Given the description of an element on the screen output the (x, y) to click on. 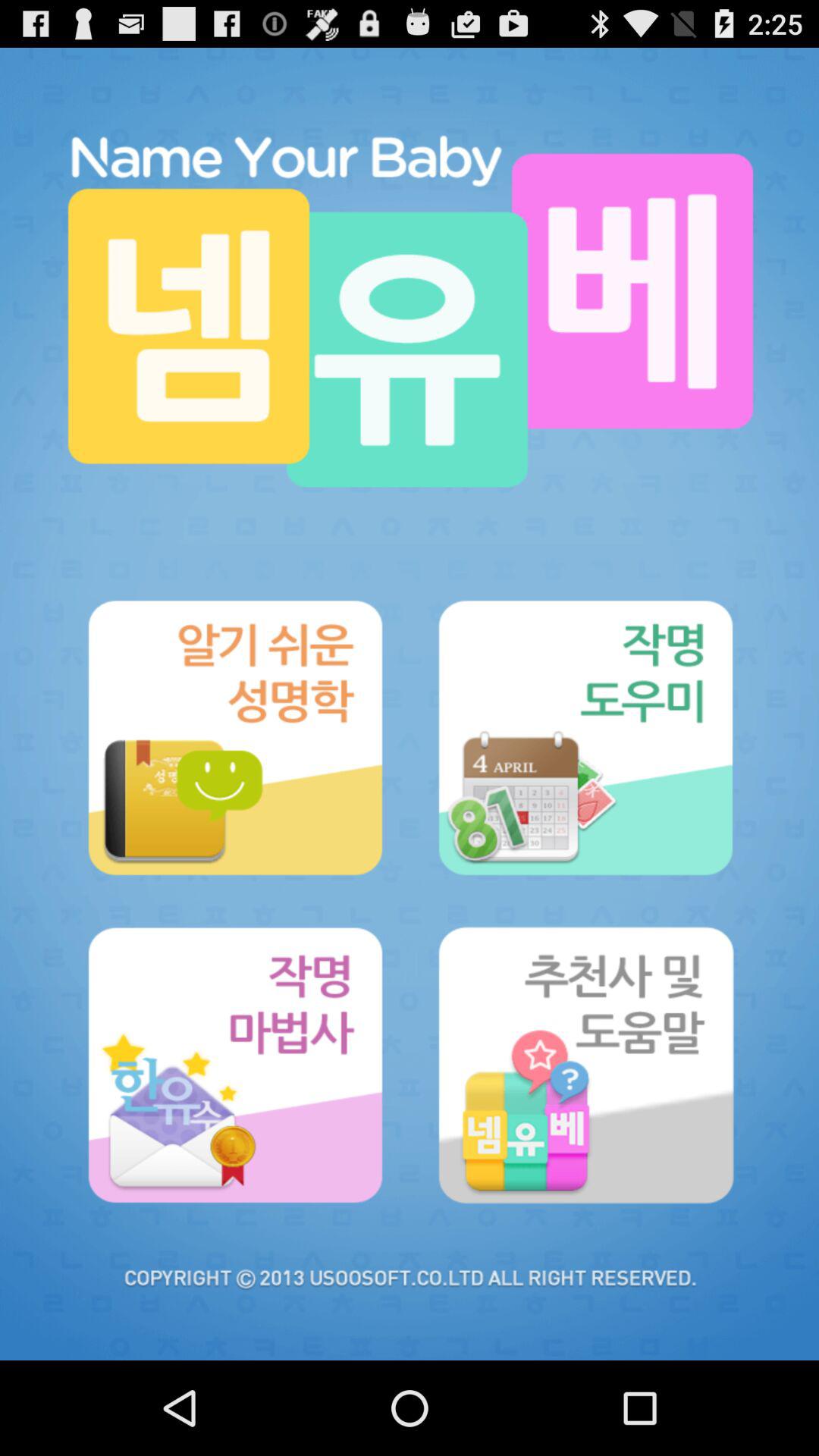
calender app (584, 737)
